Given the description of an element on the screen output the (x, y) to click on. 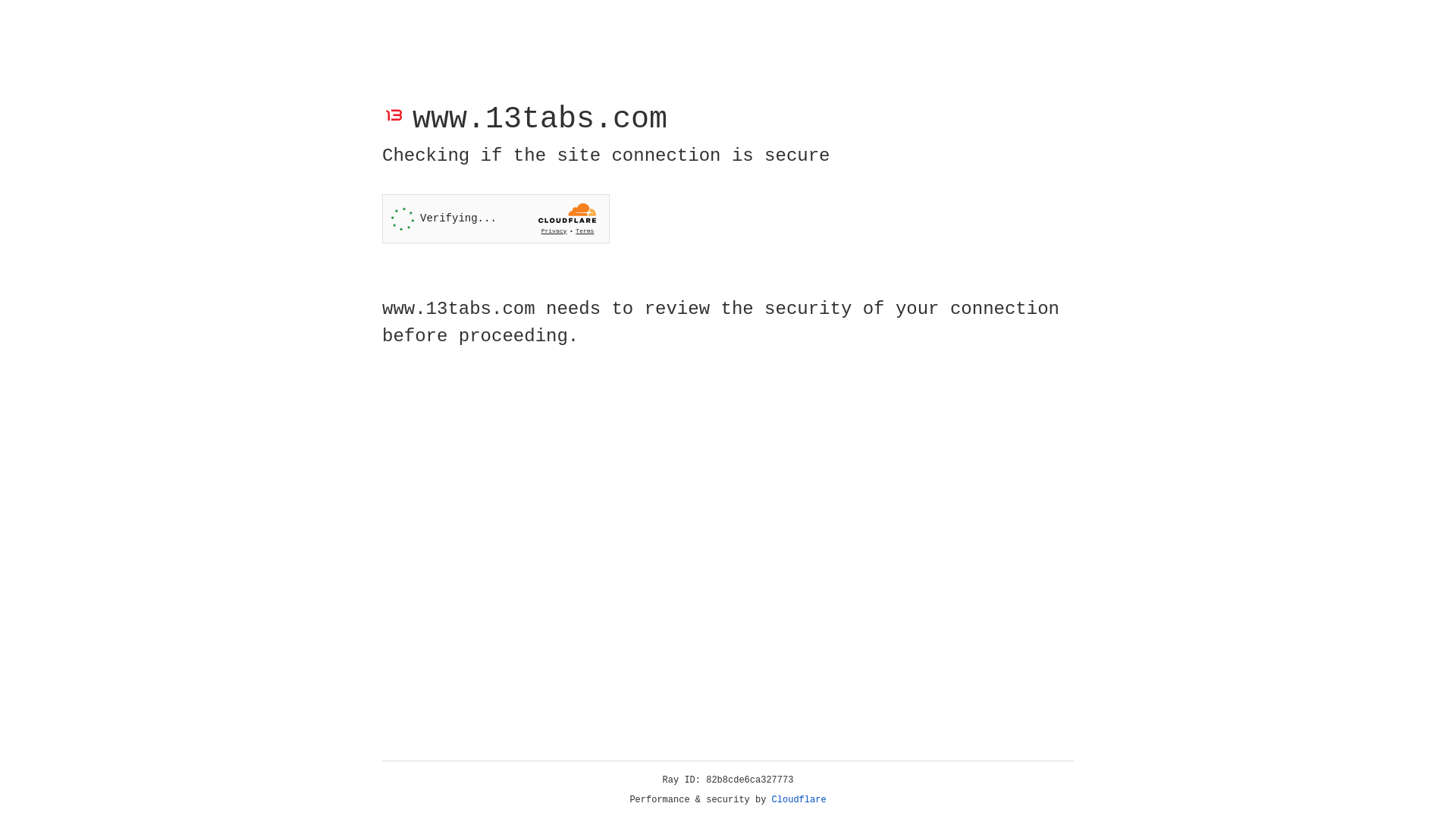
Widget containing a Cloudflare security challenge Element type: hover (495, 218)
Cloudflare Element type: text (798, 799)
